Given the description of an element on the screen output the (x, y) to click on. 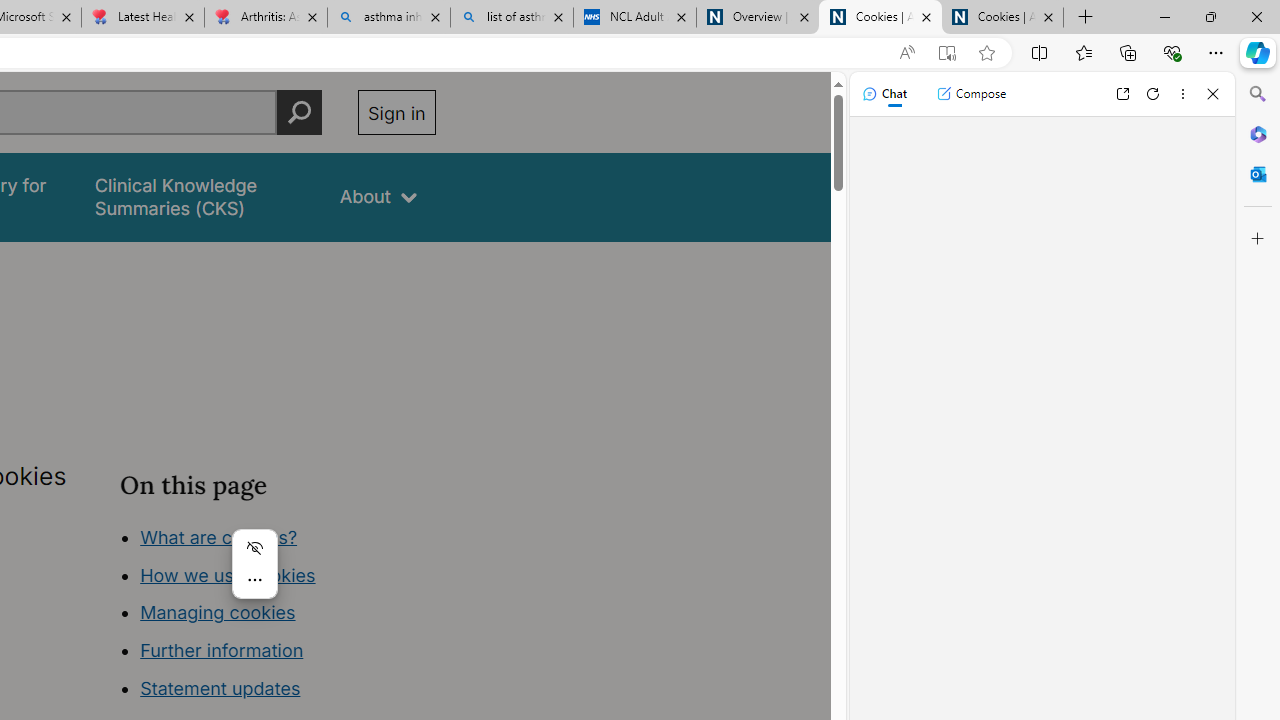
asthma inhaler - Search (388, 17)
How we use cookies (227, 574)
Close Customize pane (1258, 239)
Hide menu (254, 547)
Chat (884, 93)
Compose (971, 93)
Arthritis: Ask Health Professionals (265, 17)
Mini menu on text selection (254, 575)
Managing cookies (217, 612)
